Given the description of an element on the screen output the (x, y) to click on. 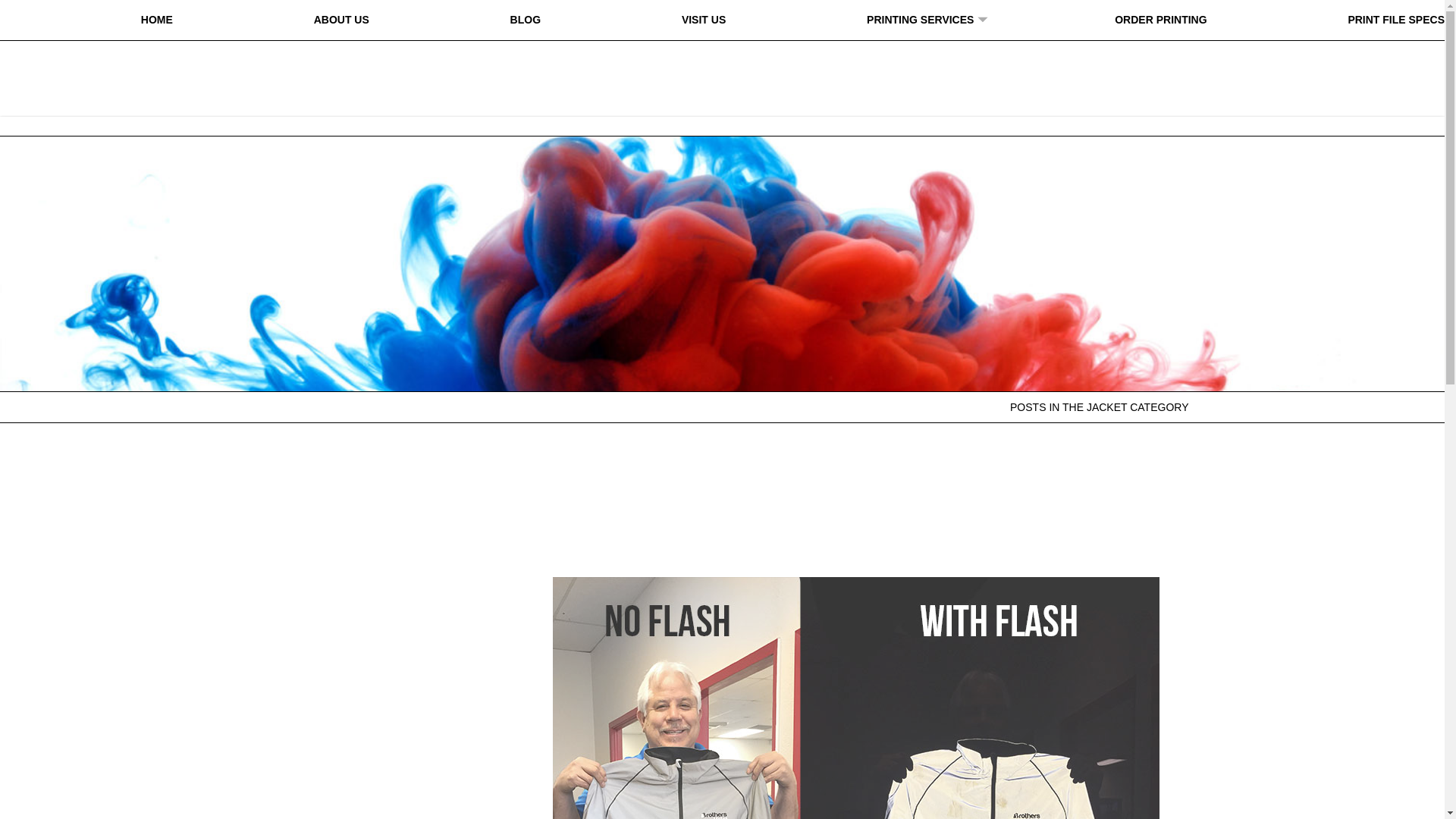
PRINTING SERVICES (920, 20)
ABOUT US (341, 20)
VISIT US (703, 20)
Global Printing Solutions (722, 68)
